Given the description of an element on the screen output the (x, y) to click on. 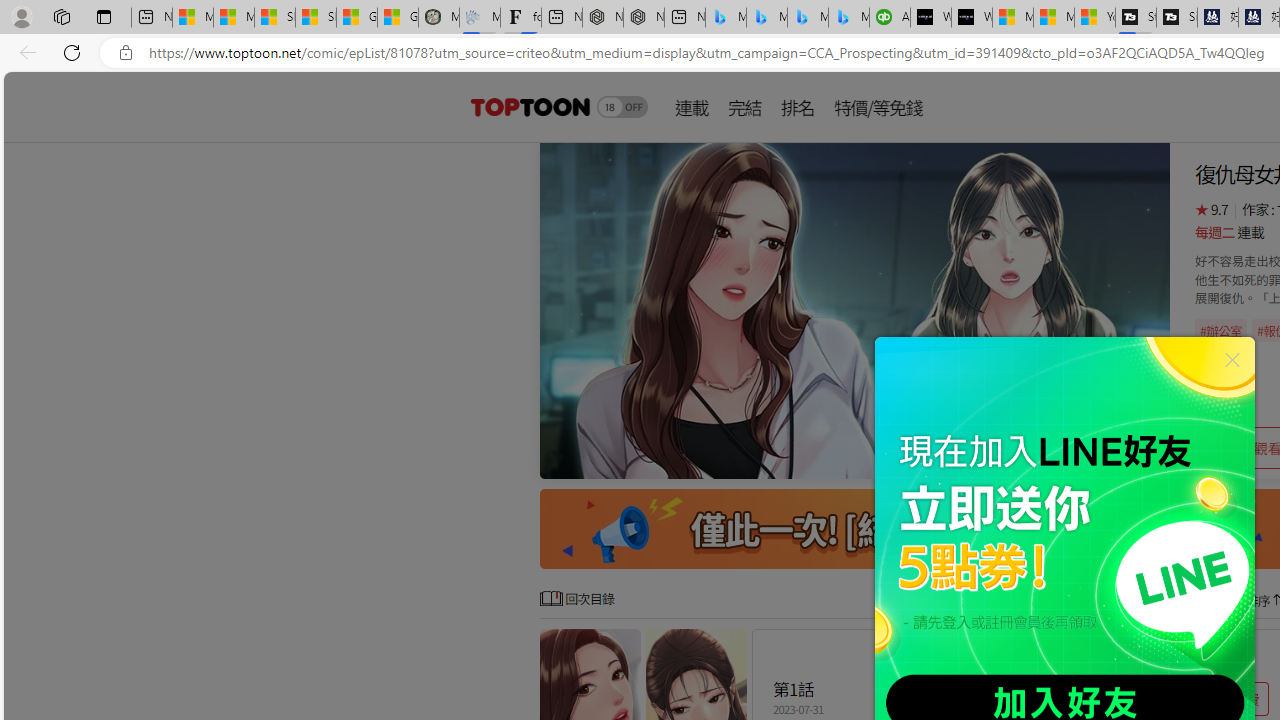
Streaming Coverage | T3 (1135, 17)
Shanghai, China weather forecast | Microsoft Weather (315, 17)
Microsoft Start Sports (1012, 17)
Microsoft Bing Travel - Shangri-La Hotel Bangkok (849, 17)
Class:  switch_18mode actionAdultBtn (621, 106)
Class: swiper-slide (854, 310)
